Given the description of an element on the screen output the (x, y) to click on. 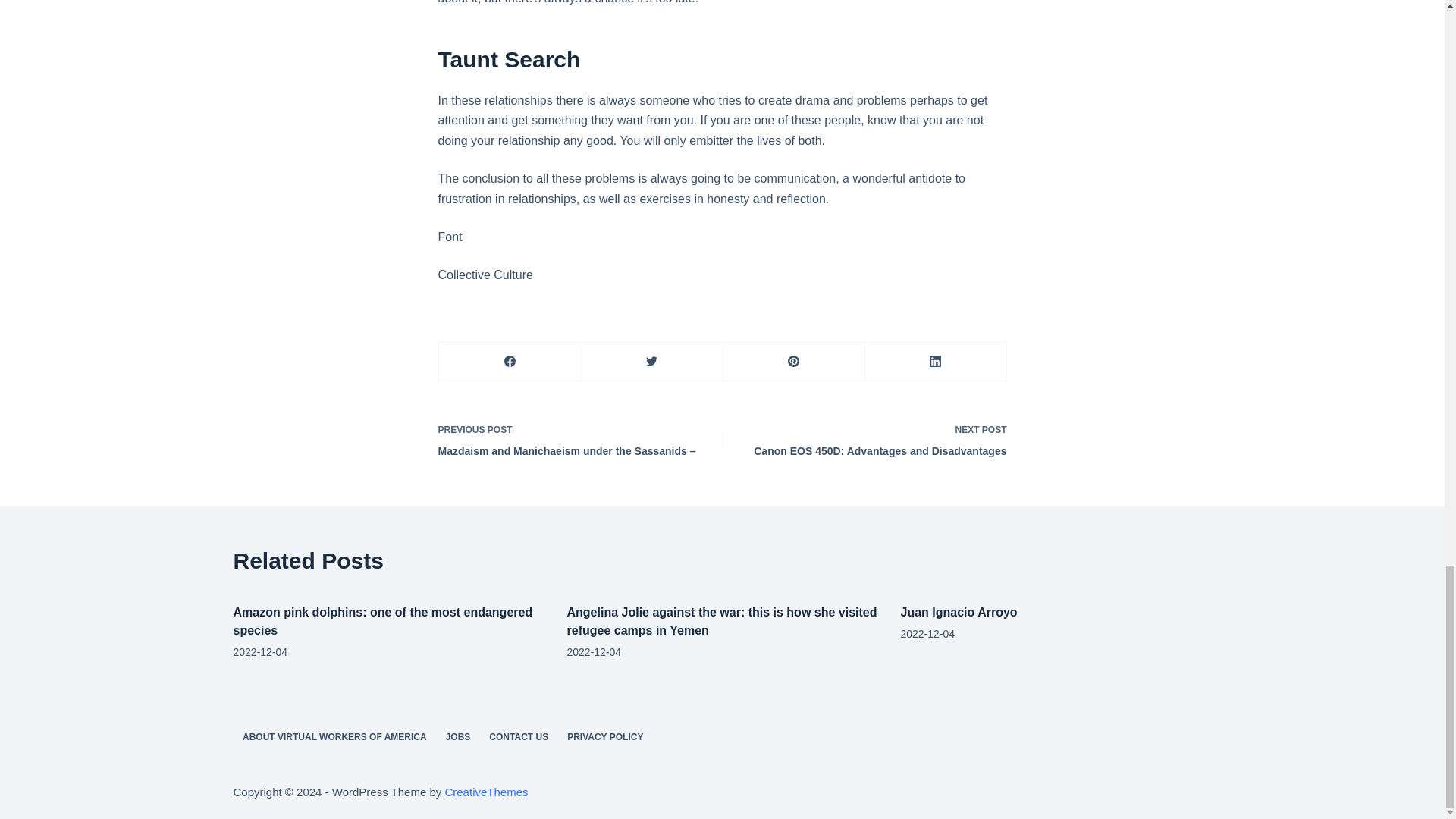
JOBS (457, 737)
CreativeThemes (485, 791)
PRIVACY POLICY (604, 737)
ABOUT VIRTUAL WORKERS OF AMERICA (875, 439)
Juan Ignacio Arroyo (334, 737)
CONTACT US (959, 612)
Amazon pink dolphins: one of the most endangered species (518, 737)
